Given the description of an element on the screen output the (x, y) to click on. 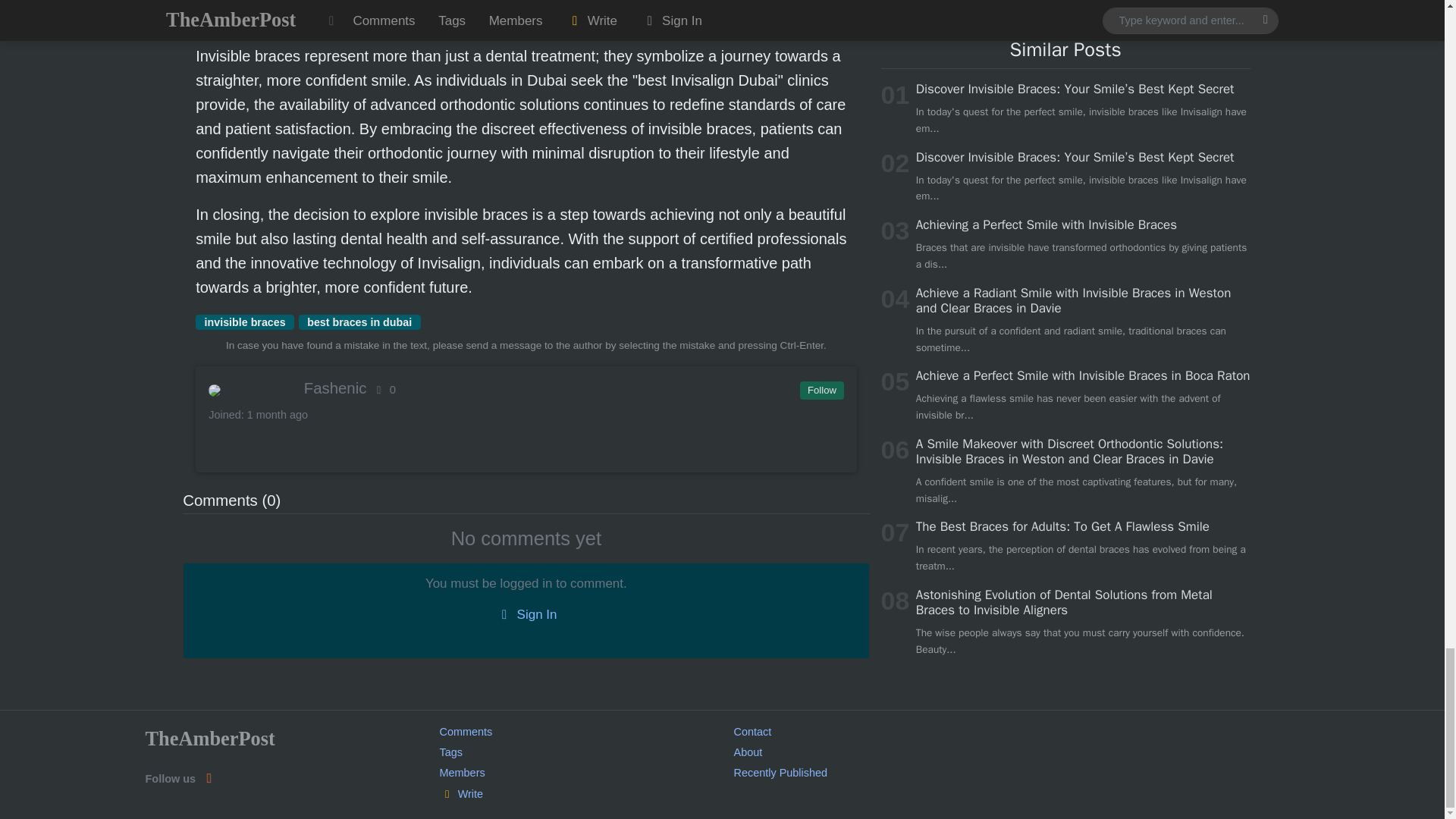
best braces in dubai (359, 322)
Comments (466, 731)
invisible braces (244, 322)
Rating (383, 389)
Follow (821, 390)
Sign In (525, 613)
best braces in dubai (359, 322)
invisible braces (244, 322)
Fashenic 0 (525, 388)
